Given the description of an element on the screen output the (x, y) to click on. 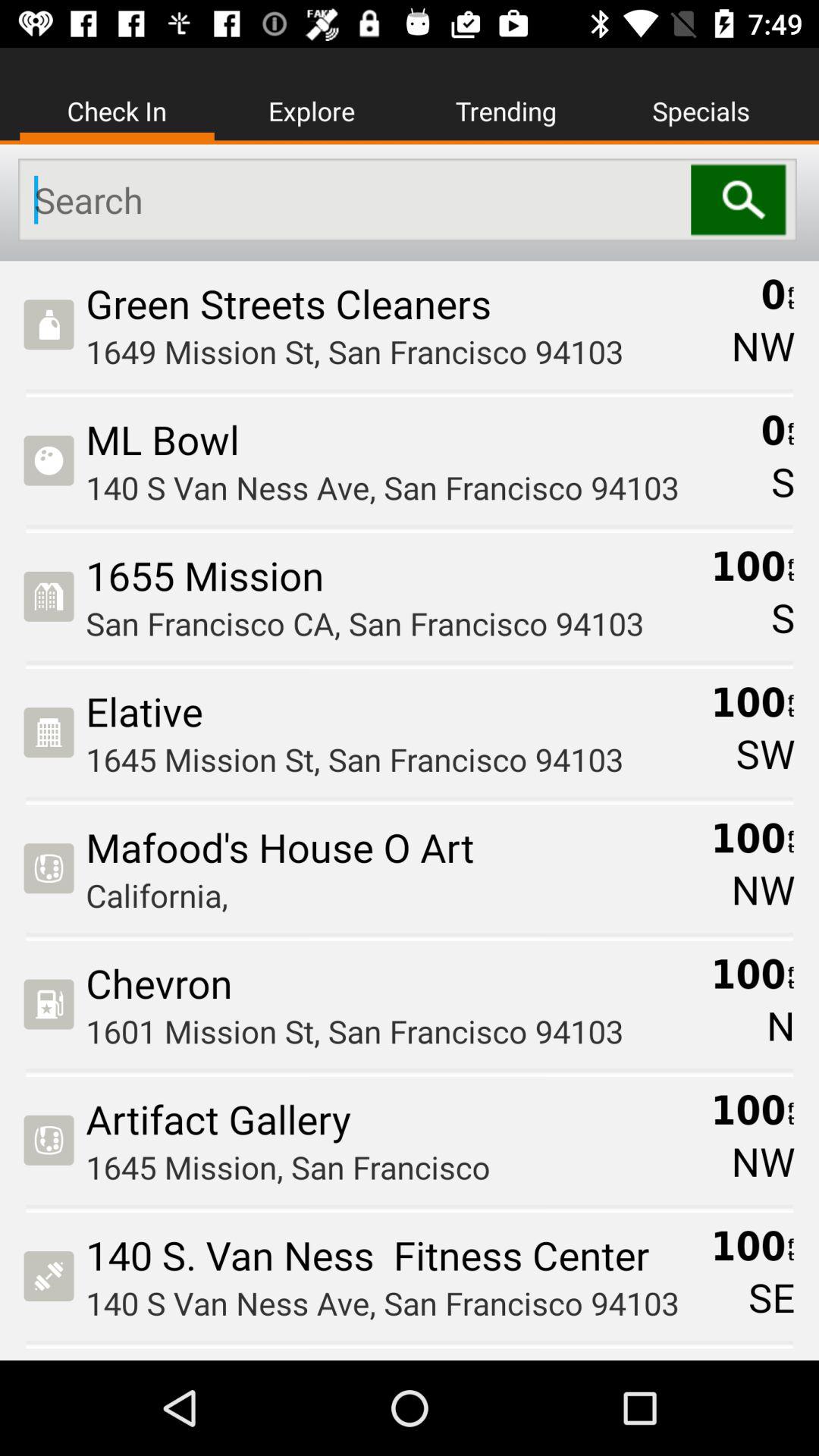
open the item below 1601 mission st (392, 1118)
